Given the description of an element on the screen output the (x, y) to click on. 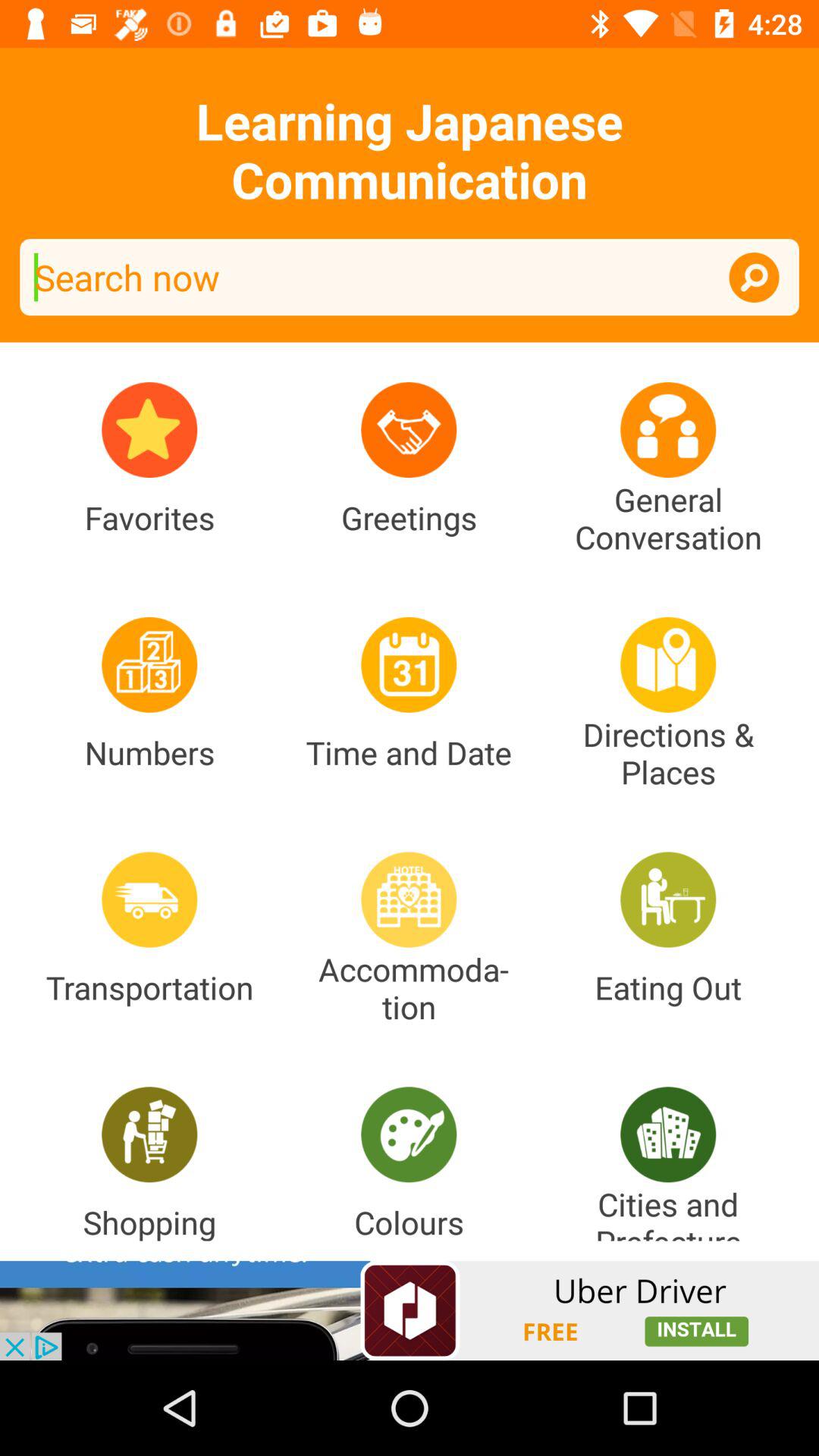
advertisement (409, 1310)
